Given the description of an element on the screen output the (x, y) to click on. 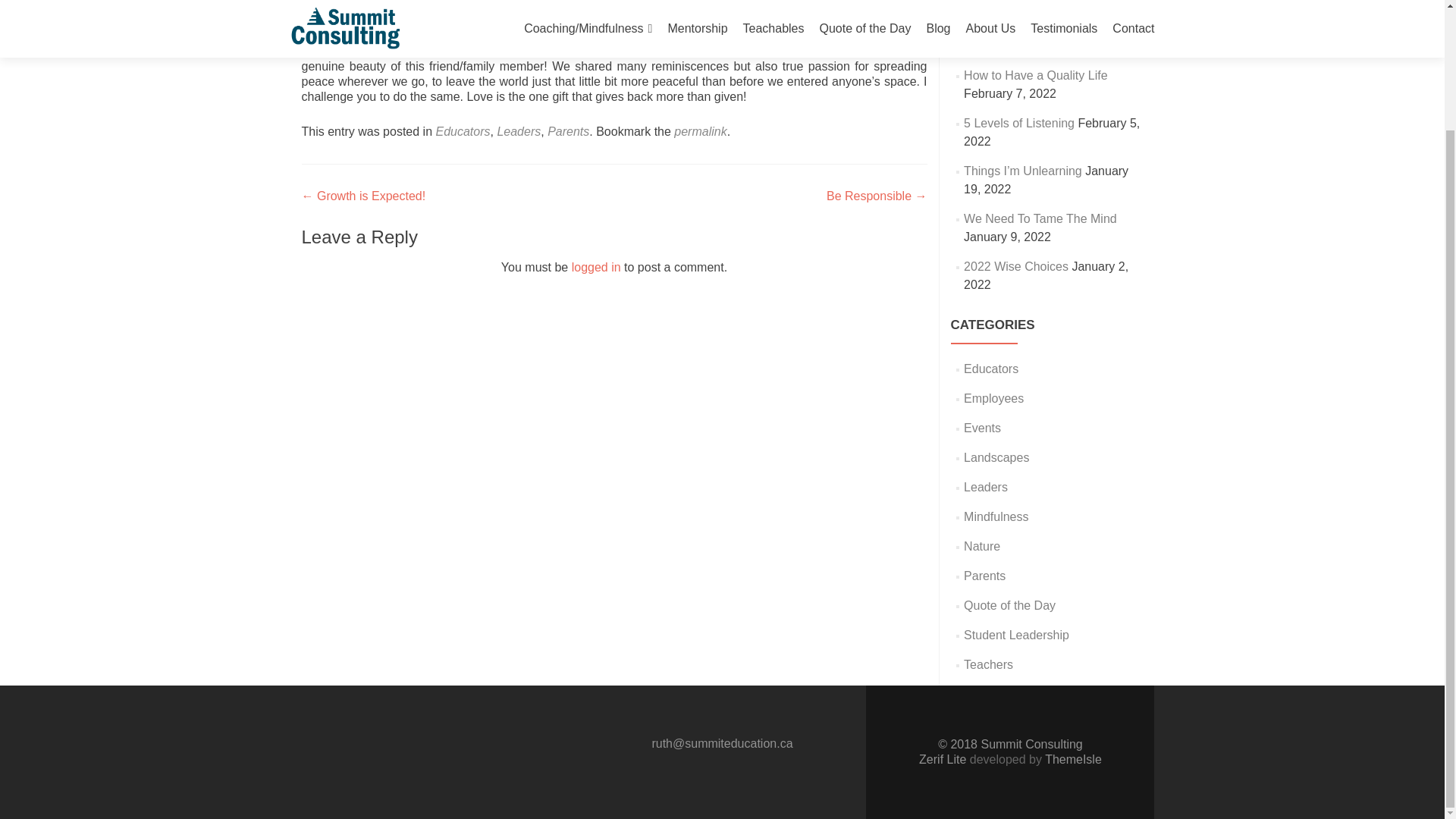
Leaders (518, 131)
permalink (700, 131)
Nature (981, 545)
logged in (596, 267)
Leaders (985, 486)
Educators (462, 131)
We Need To Tame The Mind (1039, 218)
Educators (990, 368)
Parents (984, 575)
Mindfulness (995, 516)
